Given the description of an element on the screen output the (x, y) to click on. 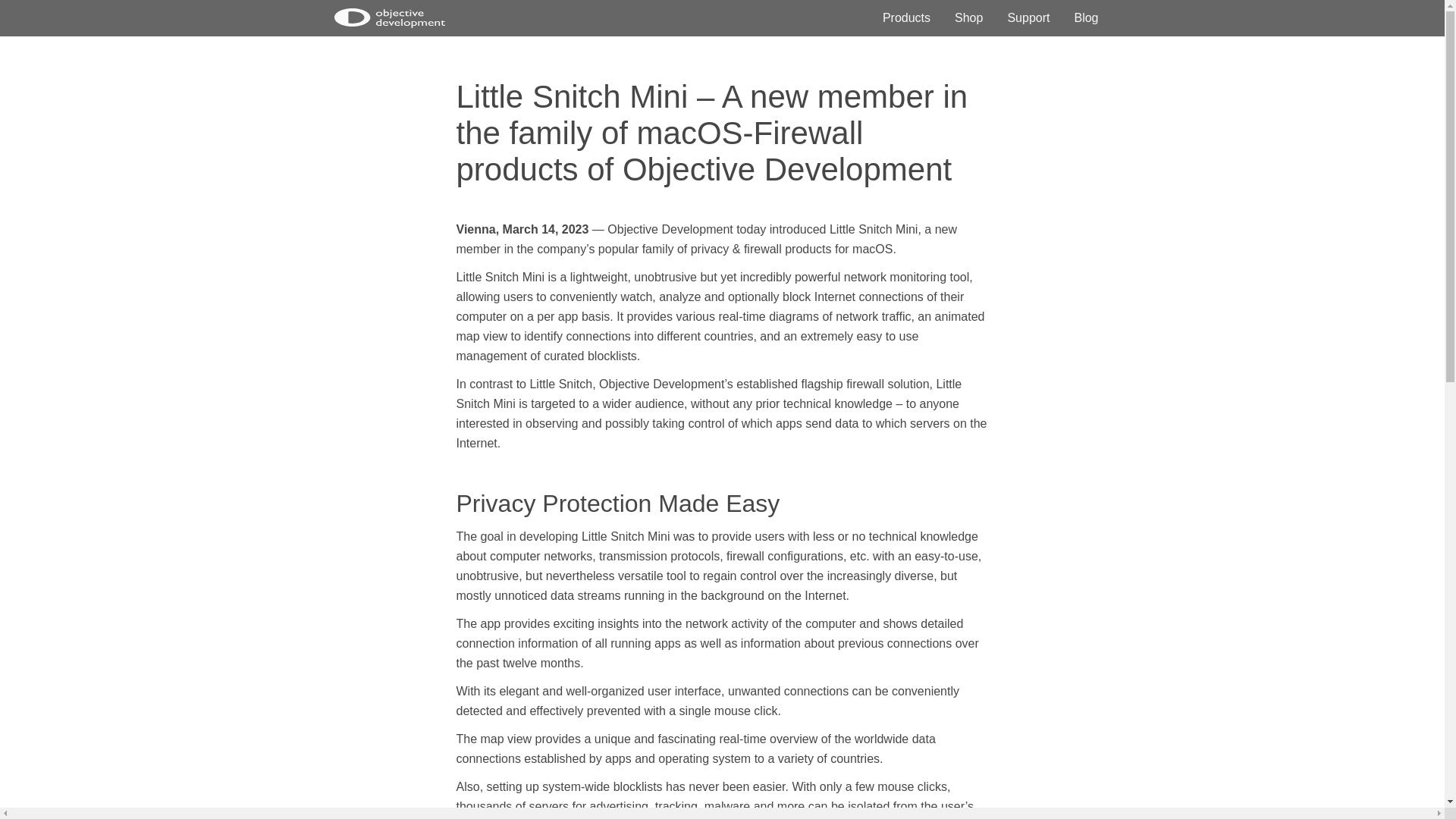
Products (906, 18)
Support (1028, 18)
